Given the description of an element on the screen output the (x, y) to click on. 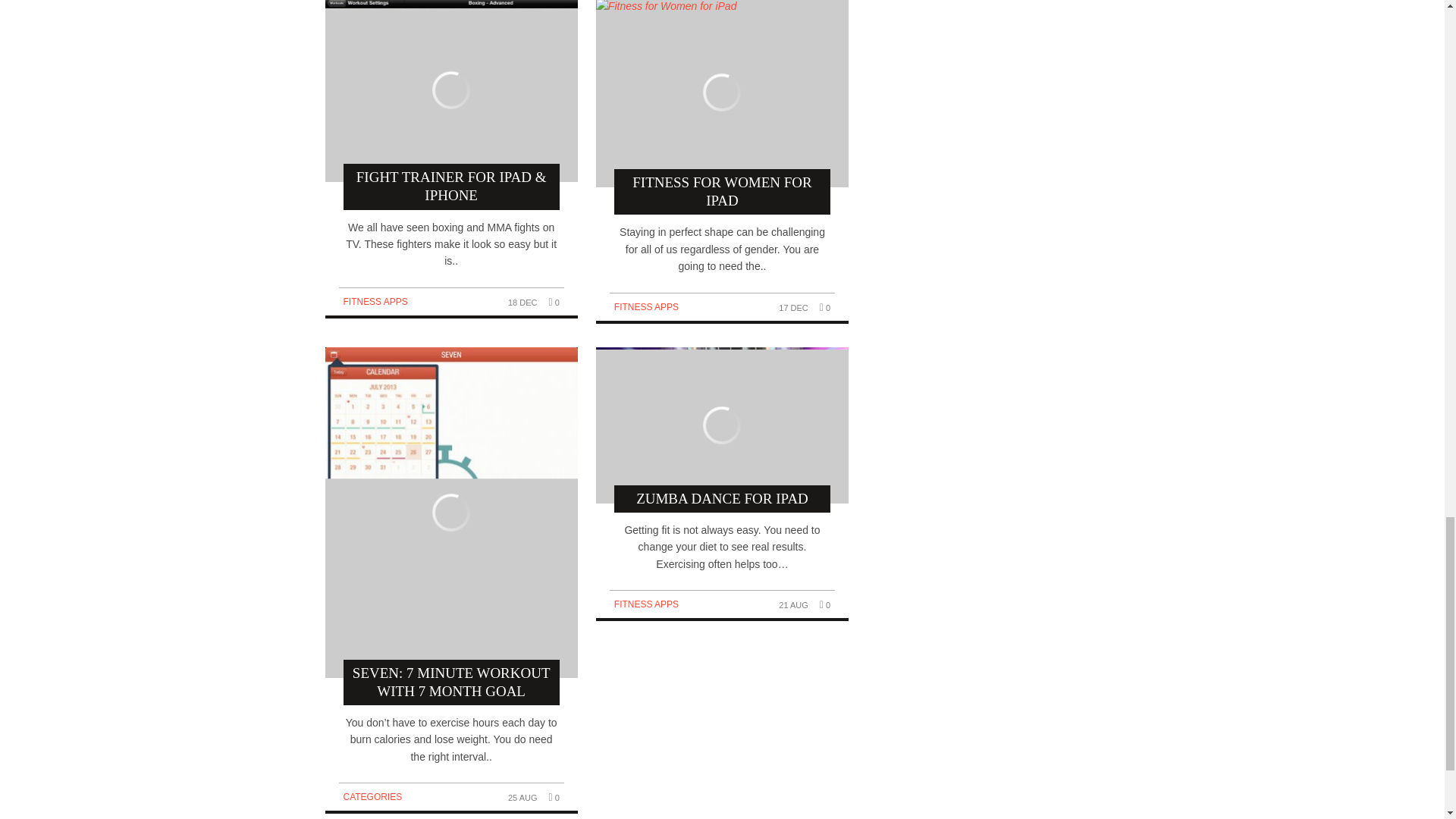
View all posts in Fitness Apps (374, 301)
View all posts in Categories (371, 796)
View all posts in Fitness Apps (646, 307)
View all posts in Fitness Apps (646, 603)
